Given the description of an element on the screen output the (x, y) to click on. 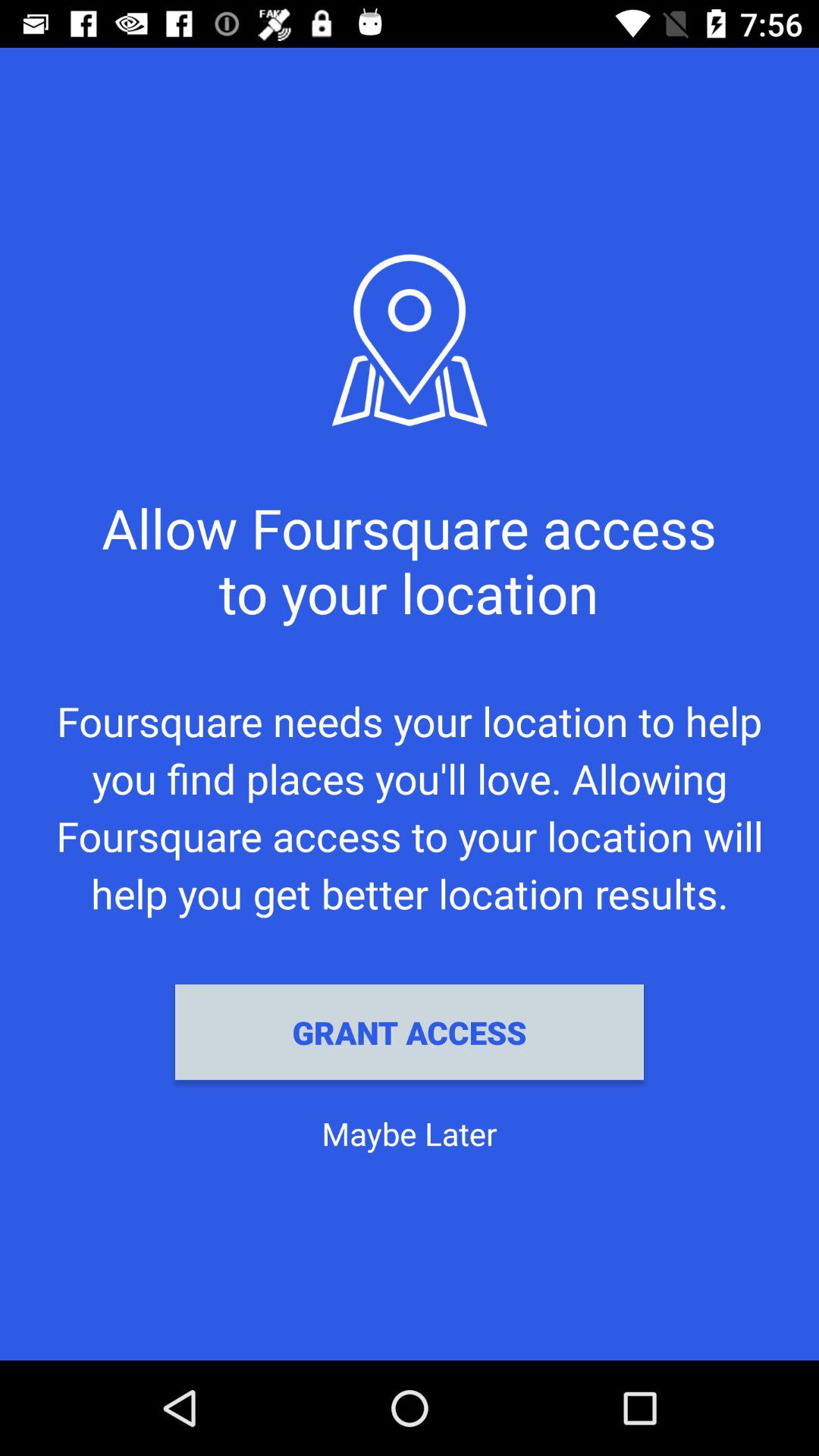
jump until grant access icon (409, 1032)
